Given the description of an element on the screen output the (x, y) to click on. 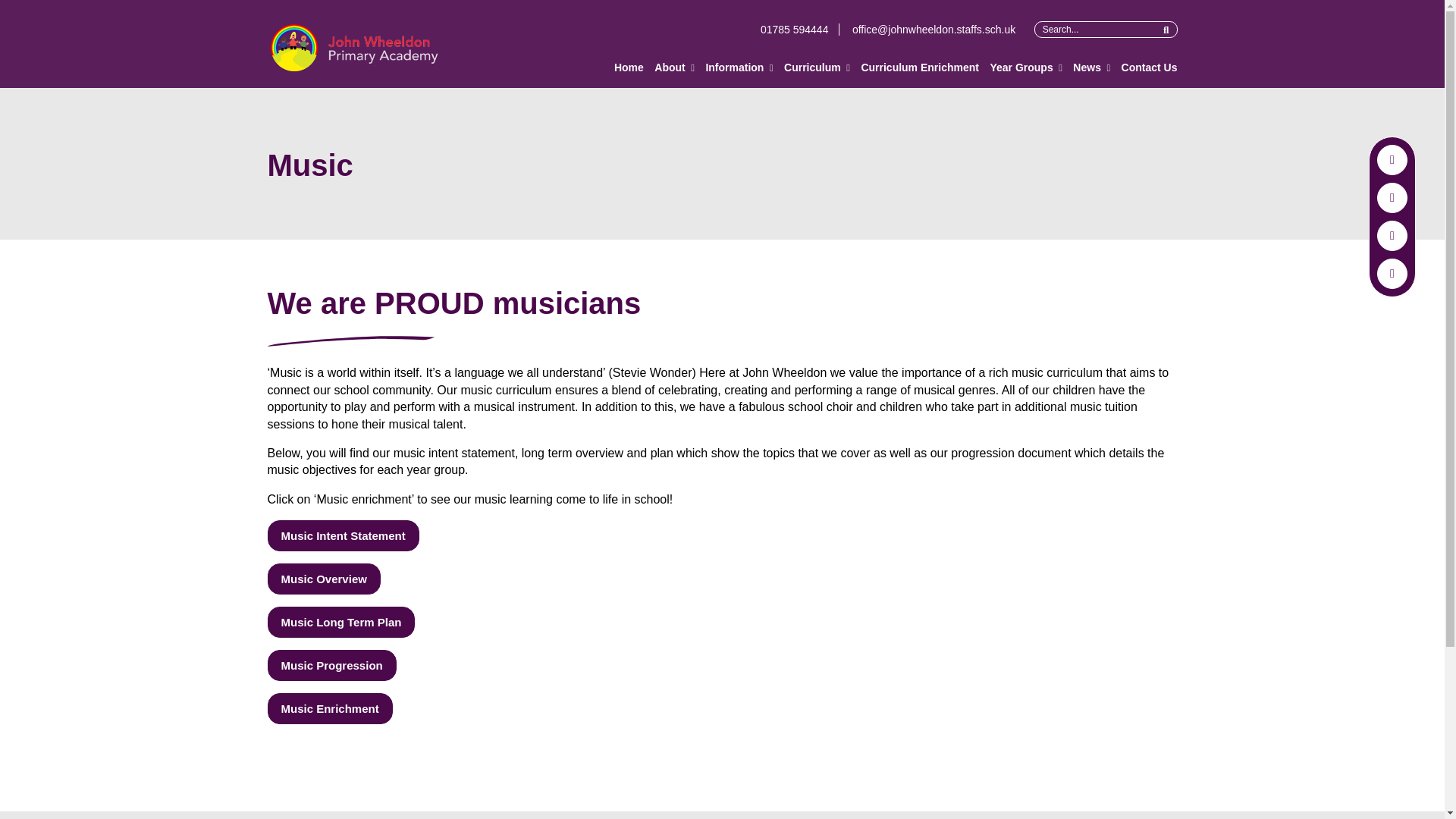
About (668, 67)
Curriculum (812, 67)
Email Us (1392, 197)
01785 594444 (800, 29)
Home (628, 67)
Call Us (800, 29)
Phone Us (1392, 235)
Email Us (928, 29)
Information (733, 67)
